Given the description of an element on the screen output the (x, y) to click on. 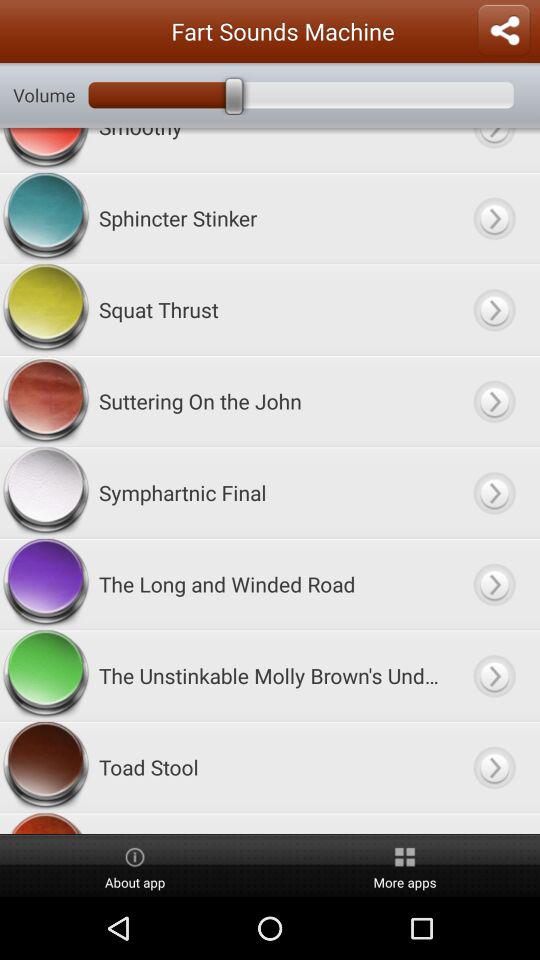
start playing (494, 218)
